Given the description of an element on the screen output the (x, y) to click on. 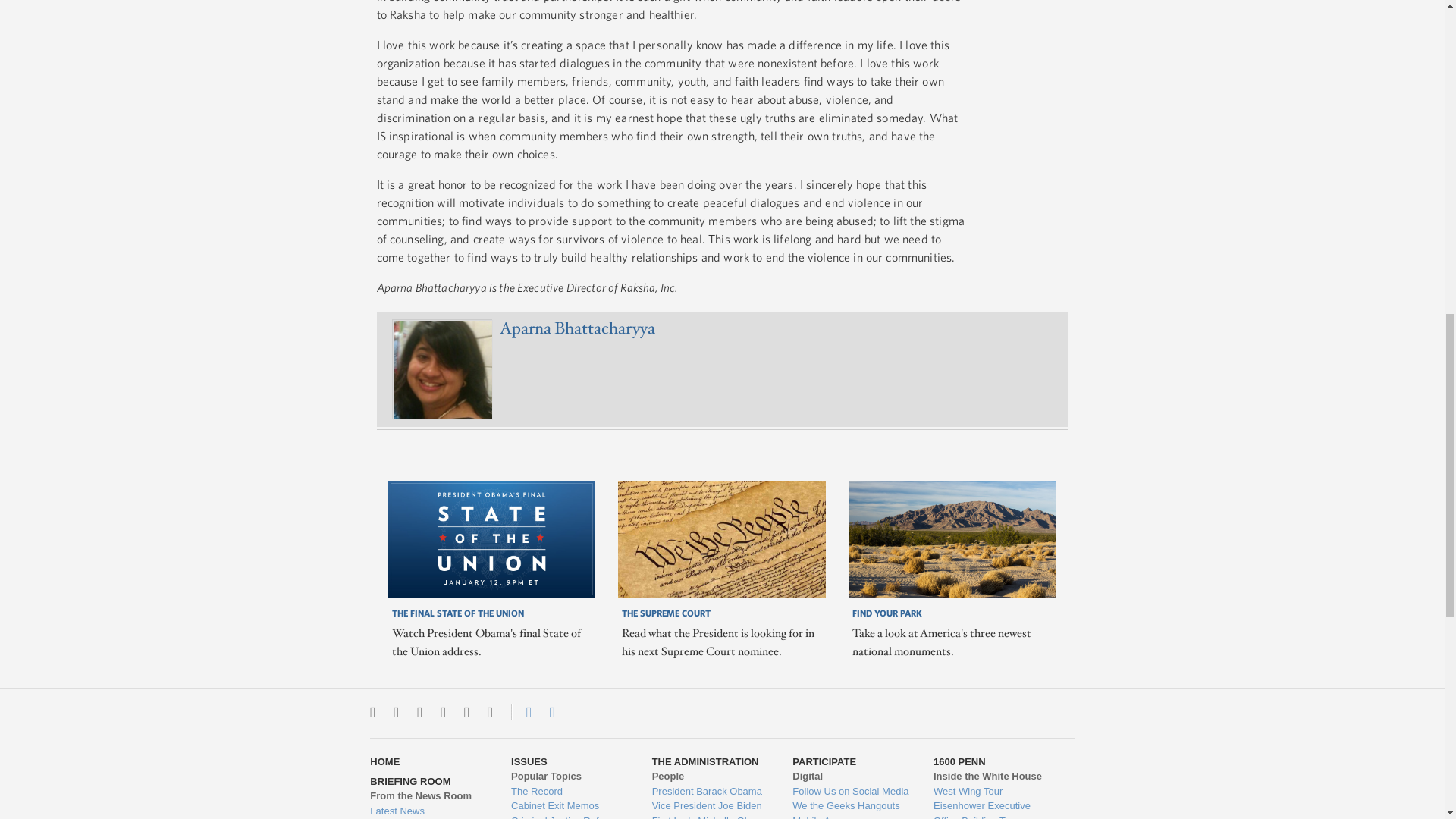
Contact the Whitehouse. (521, 711)
